Given the description of an element on the screen output the (x, y) to click on. 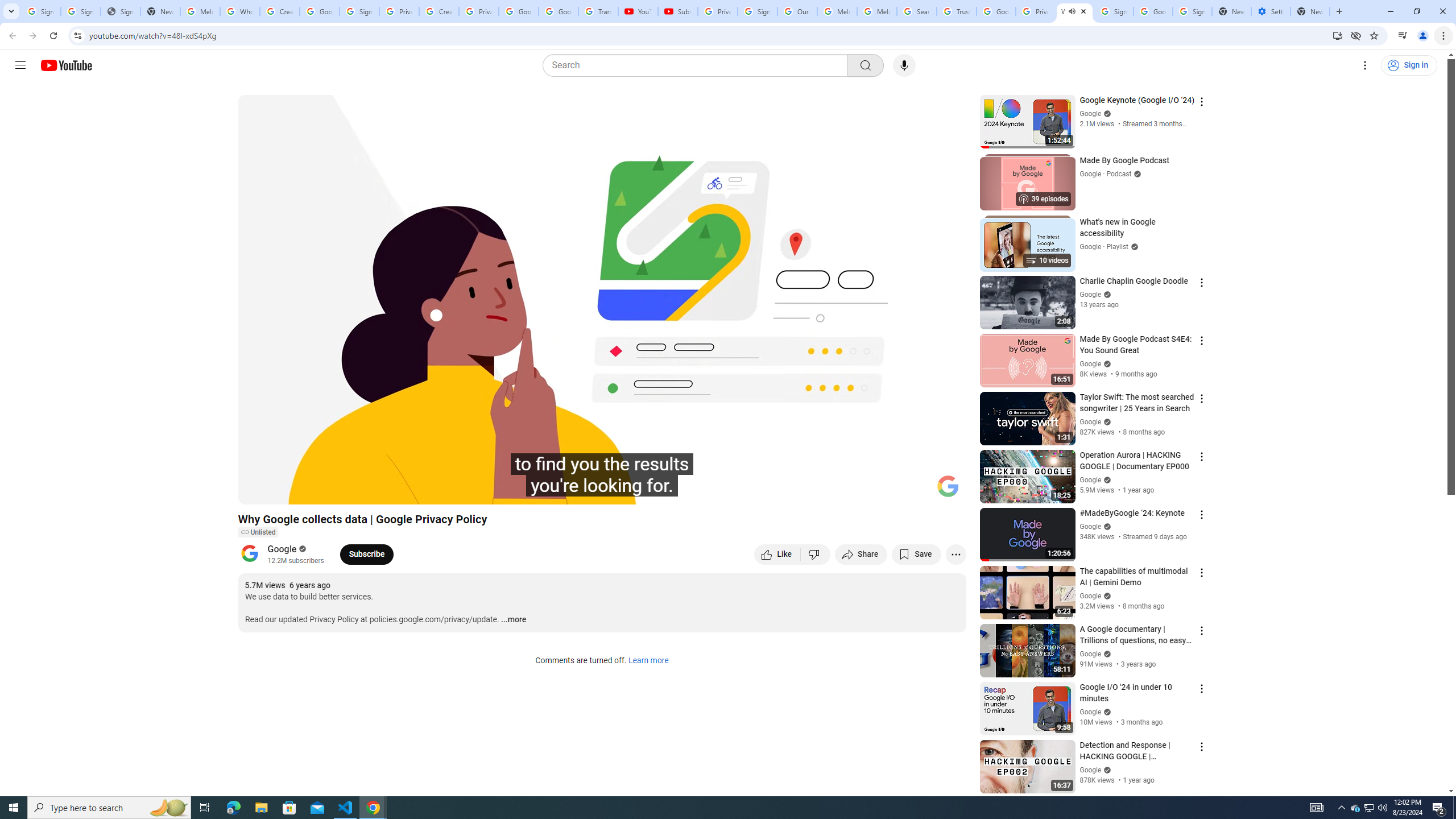
Pause (k) (257, 490)
Google Ads - Sign in (995, 11)
Create your Google Account (438, 11)
